Given the description of an element on the screen output the (x, y) to click on. 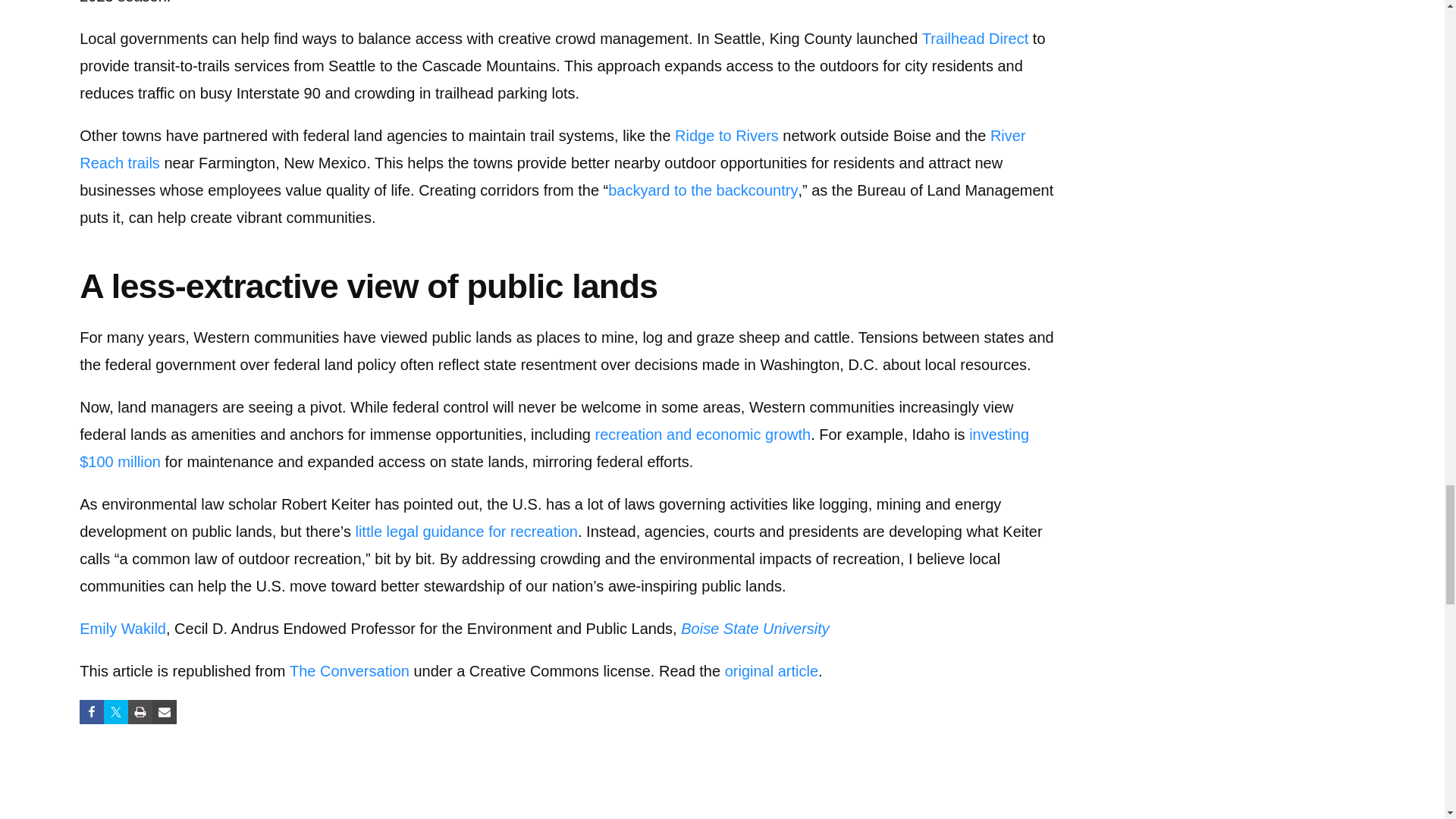
Share on Facebook (91, 711)
Share via Email (164, 711)
Print this Page (140, 711)
Share on Twitter (115, 711)
